Given the description of an element on the screen output the (x, y) to click on. 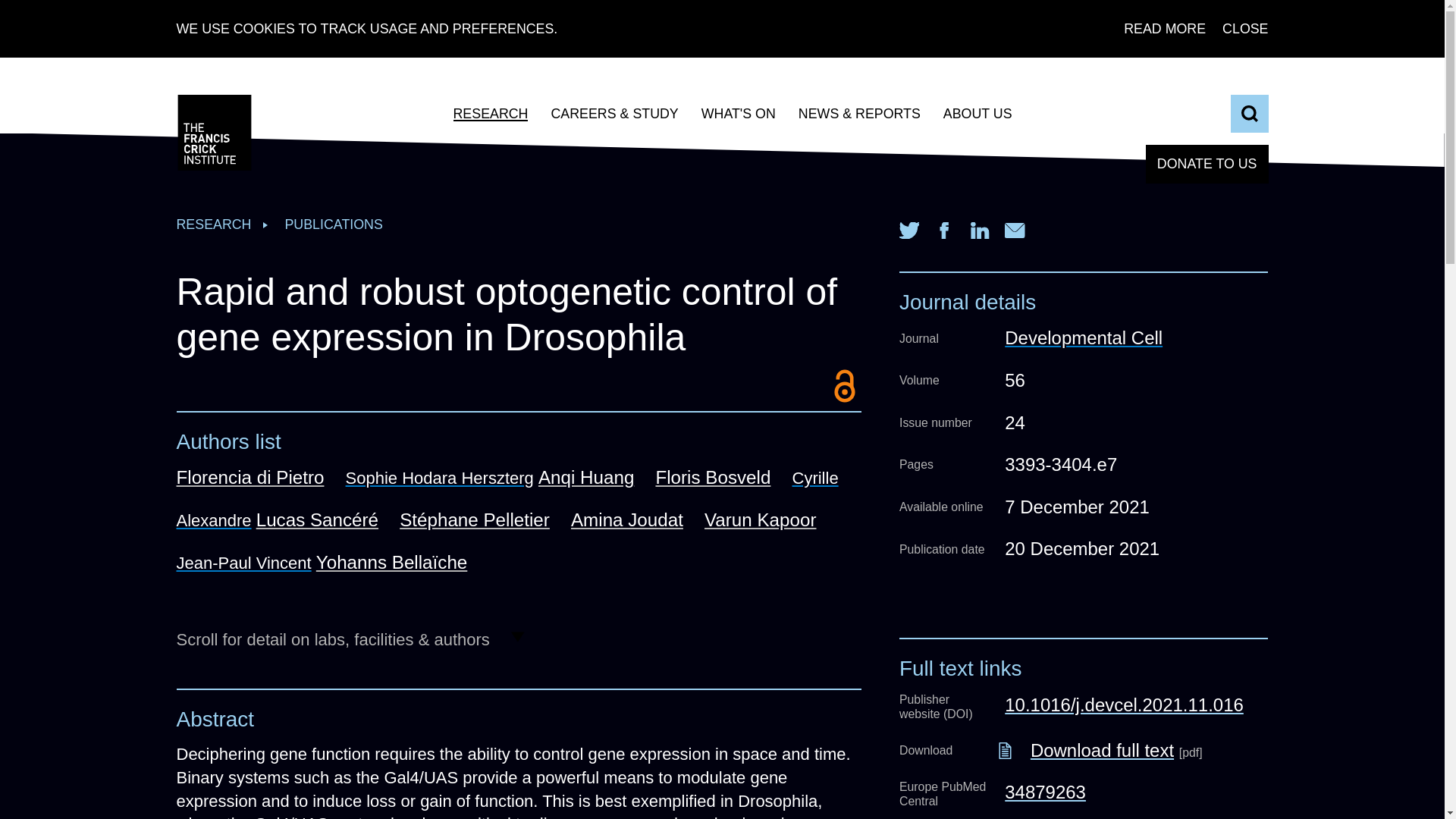
WHAT'S ON (738, 114)
READ MORE (1164, 28)
CLOSE (1245, 28)
RESEARCH (489, 114)
